Given the description of an element on the screen output the (x, y) to click on. 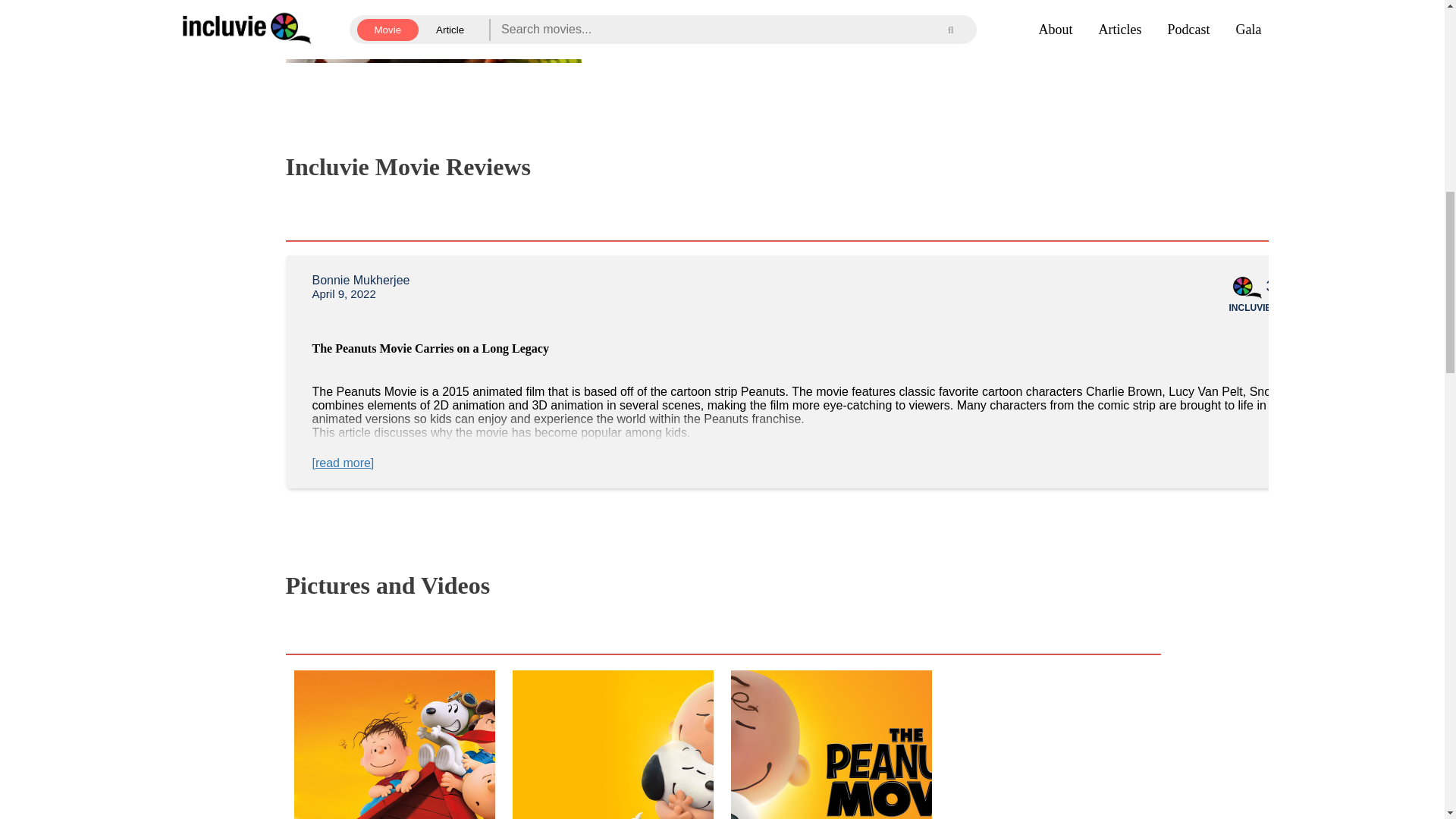
YouTube (1049, 744)
